Given the description of an element on the screen output the (x, y) to click on. 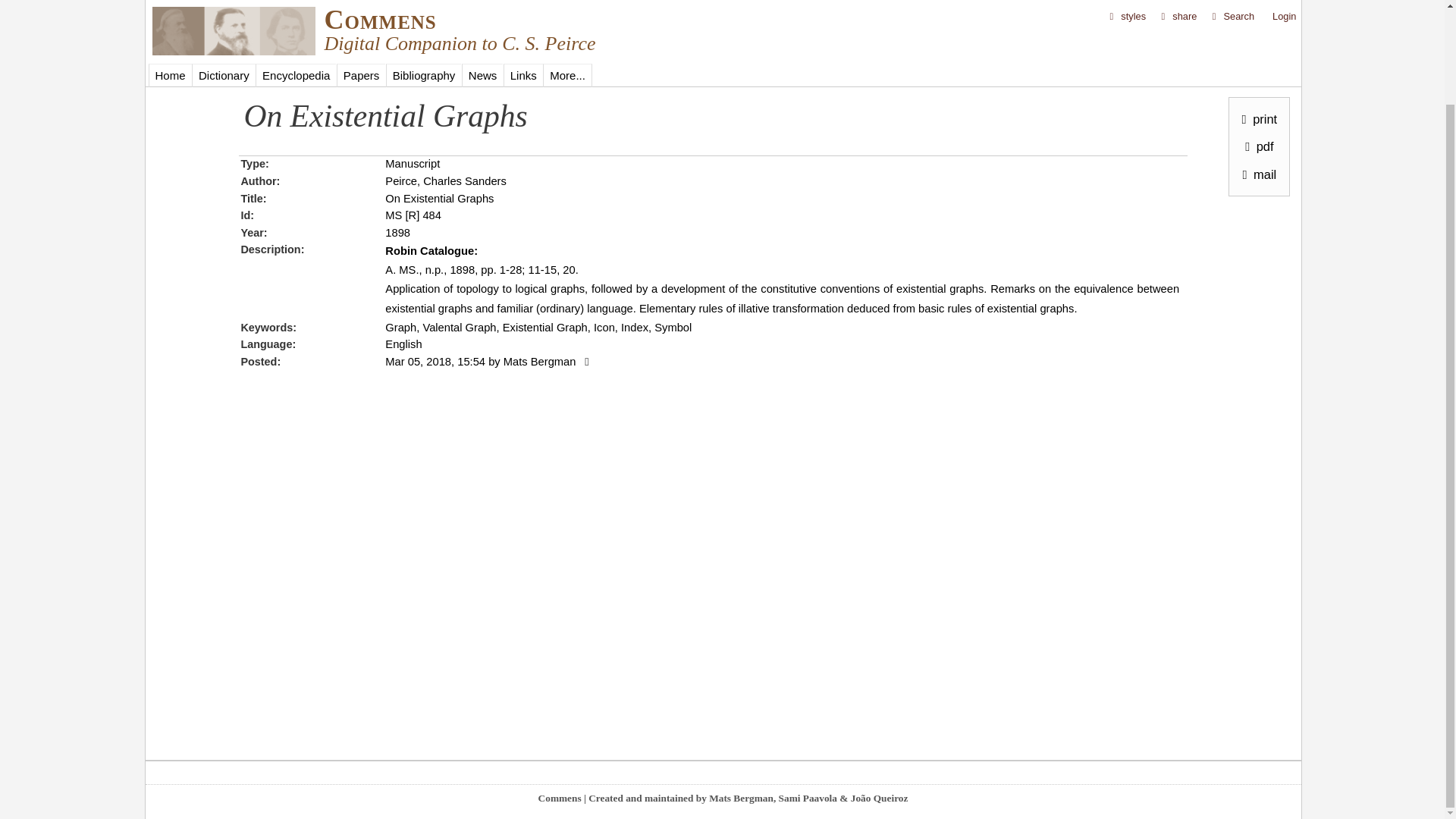
Open printer-friendly view of this Manuscript (1255, 10)
mail (1256, 65)
Valental Graph (459, 327)
Download this Manuscript as a pdf file (1256, 38)
Graph (400, 327)
print (1255, 10)
Send a message to the person who posted this item (585, 361)
Send this Manuscript by email (1256, 65)
pdf (1256, 38)
